Given the description of an element on the screen output the (x, y) to click on. 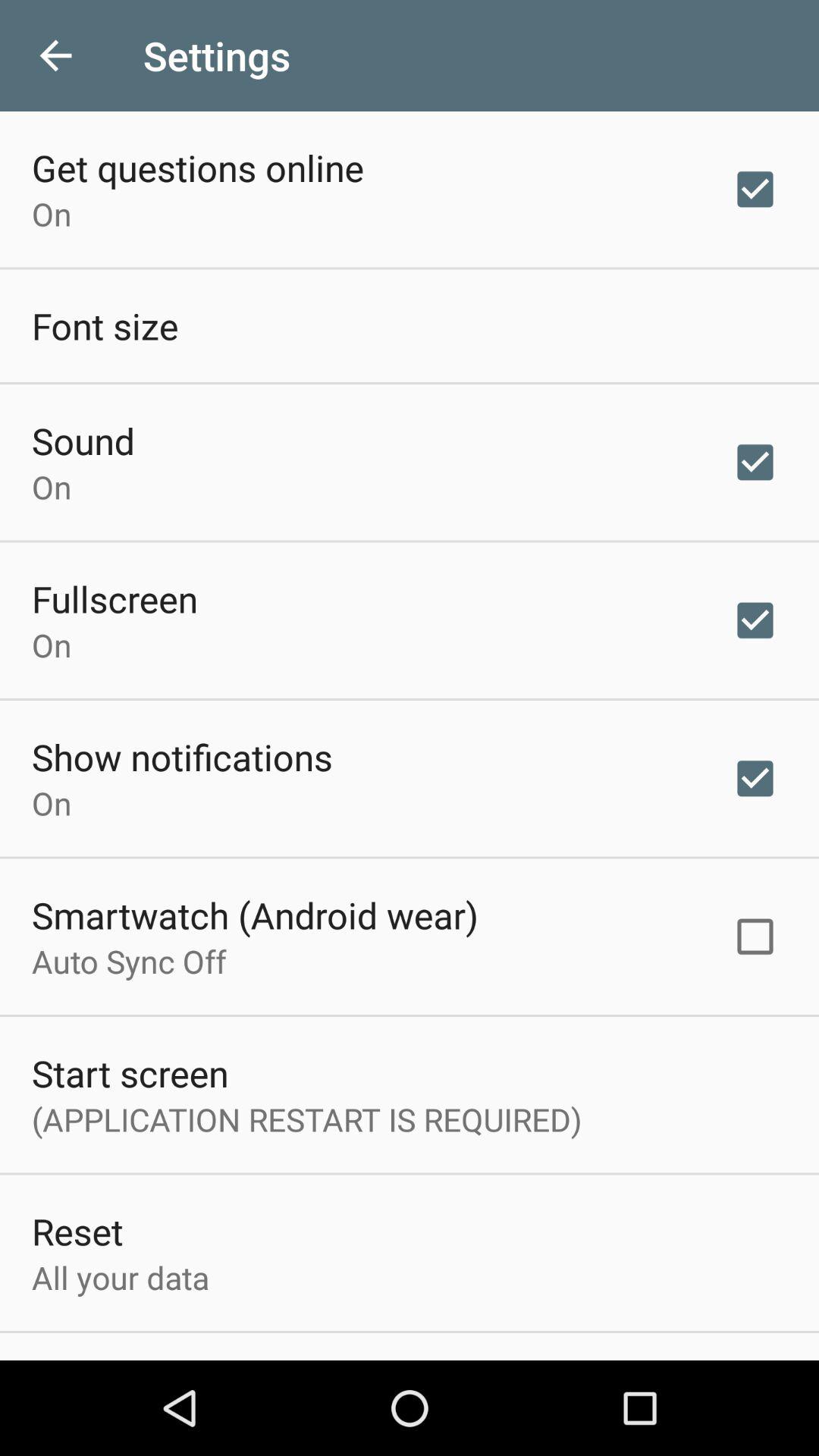
turn off sound icon (82, 440)
